Given the description of an element on the screen output the (x, y) to click on. 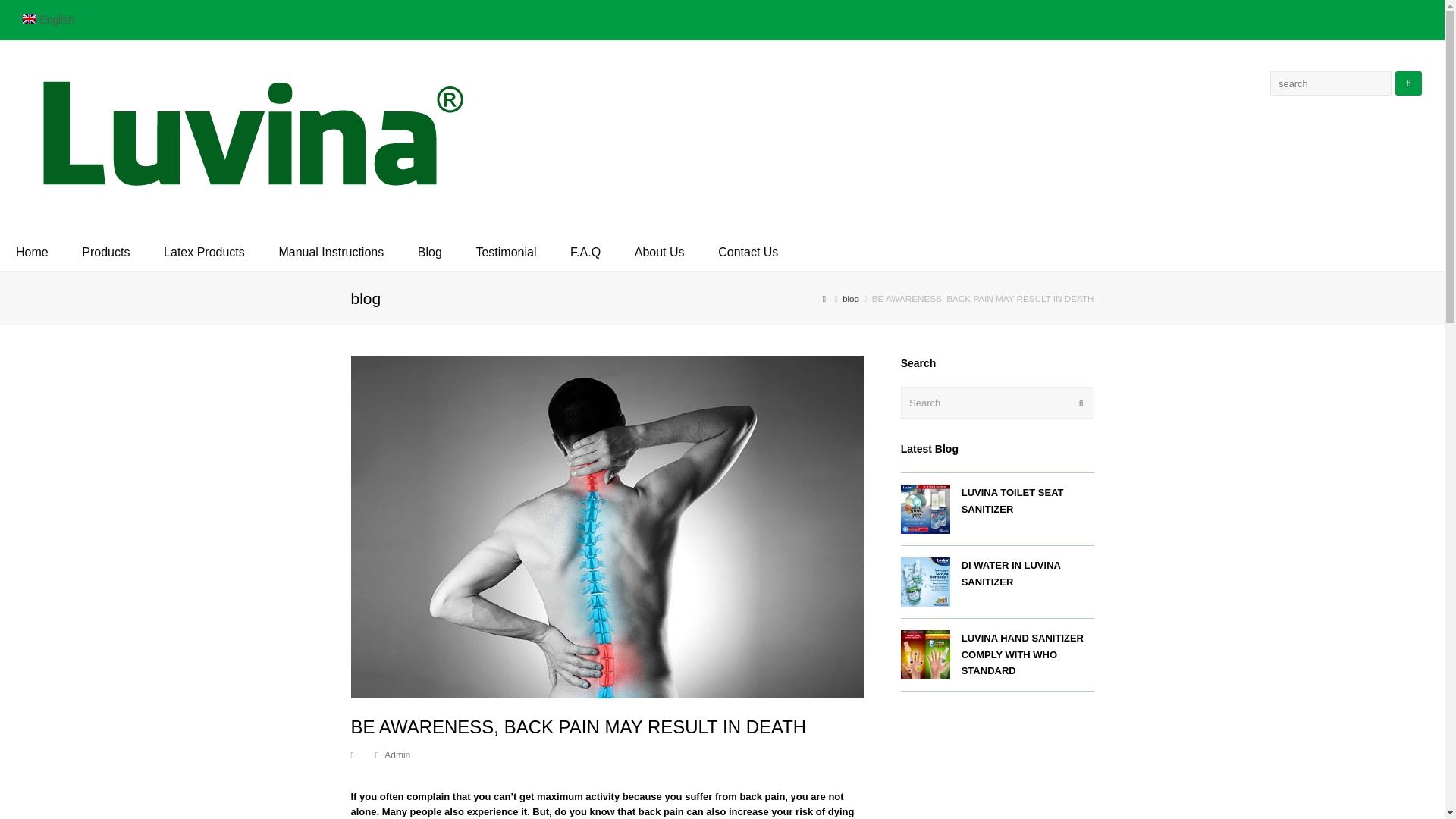
Testimonial (505, 252)
Luvina (246, 135)
blog (851, 298)
Home (32, 252)
Manual Instructions (330, 252)
search (1330, 83)
F.A.Q (584, 252)
Contact Us (748, 252)
English (48, 19)
search (1330, 83)
blog (851, 298)
Posts by Admin (397, 755)
Admin (397, 755)
English (48, 19)
About Us (660, 252)
